Given the description of an element on the screen output the (x, y) to click on. 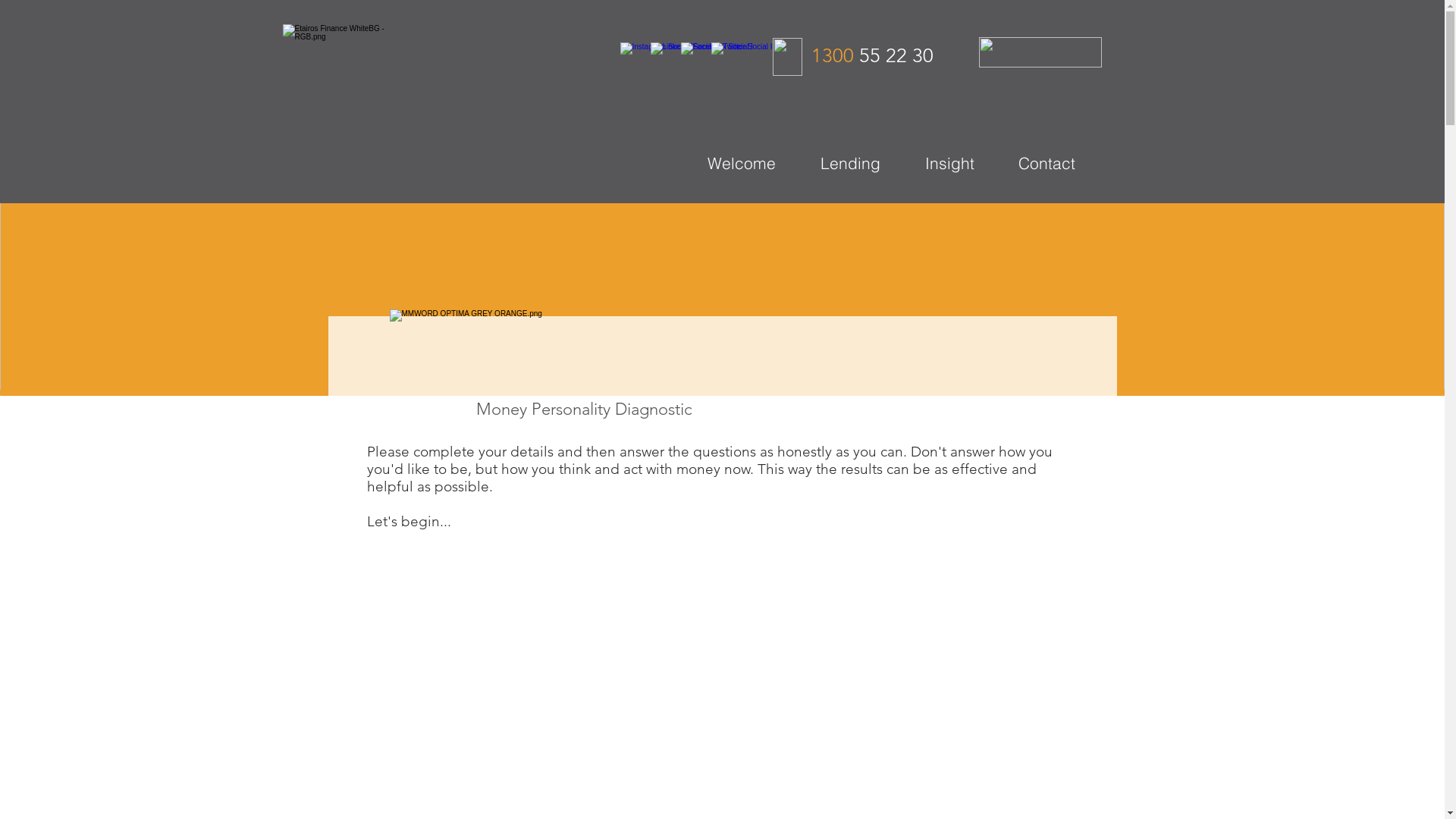
Insight Element type: text (959, 162)
Lending Element type: text (860, 162)
Contact Element type: text (1057, 162)
Welcome Element type: text (752, 162)
